Given the description of an element on the screen output the (x, y) to click on. 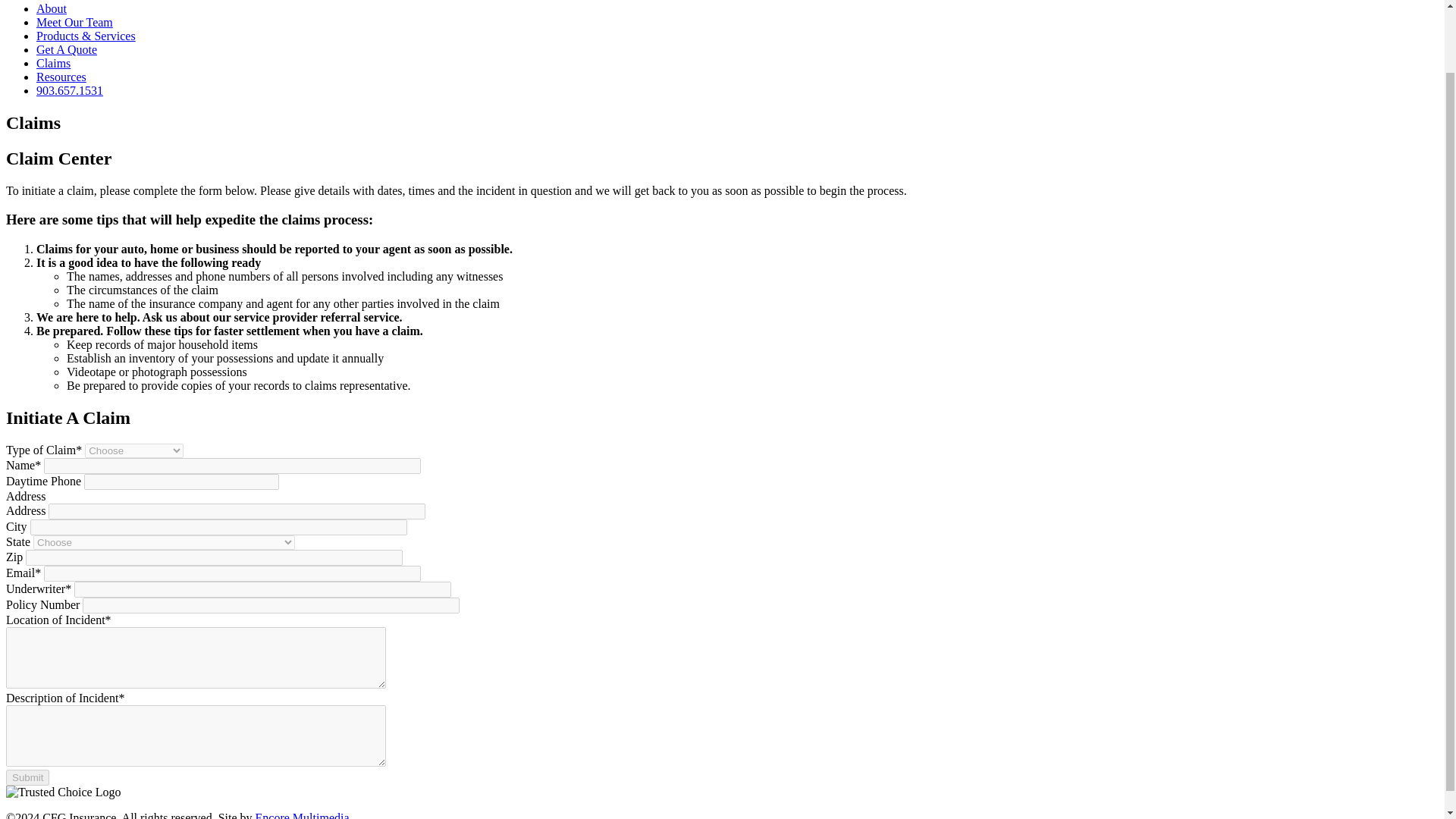
Resources (60, 76)
Get A Quote (66, 49)
About (51, 8)
903.657.1531 (69, 90)
Meet Our Team (74, 21)
Submit (27, 777)
Claims (52, 62)
Submit (27, 777)
